Given the description of an element on the screen output the (x, y) to click on. 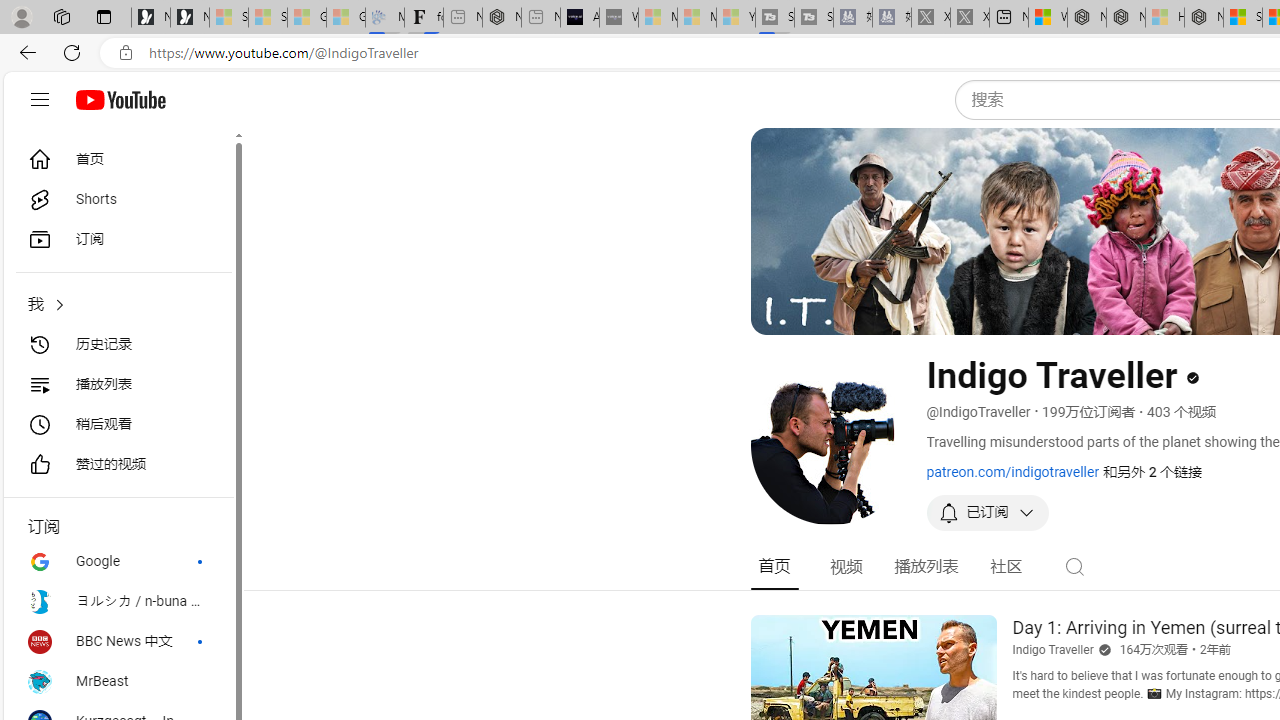
MrBeast (117, 681)
